Given the description of an element on the screen output the (x, y) to click on. 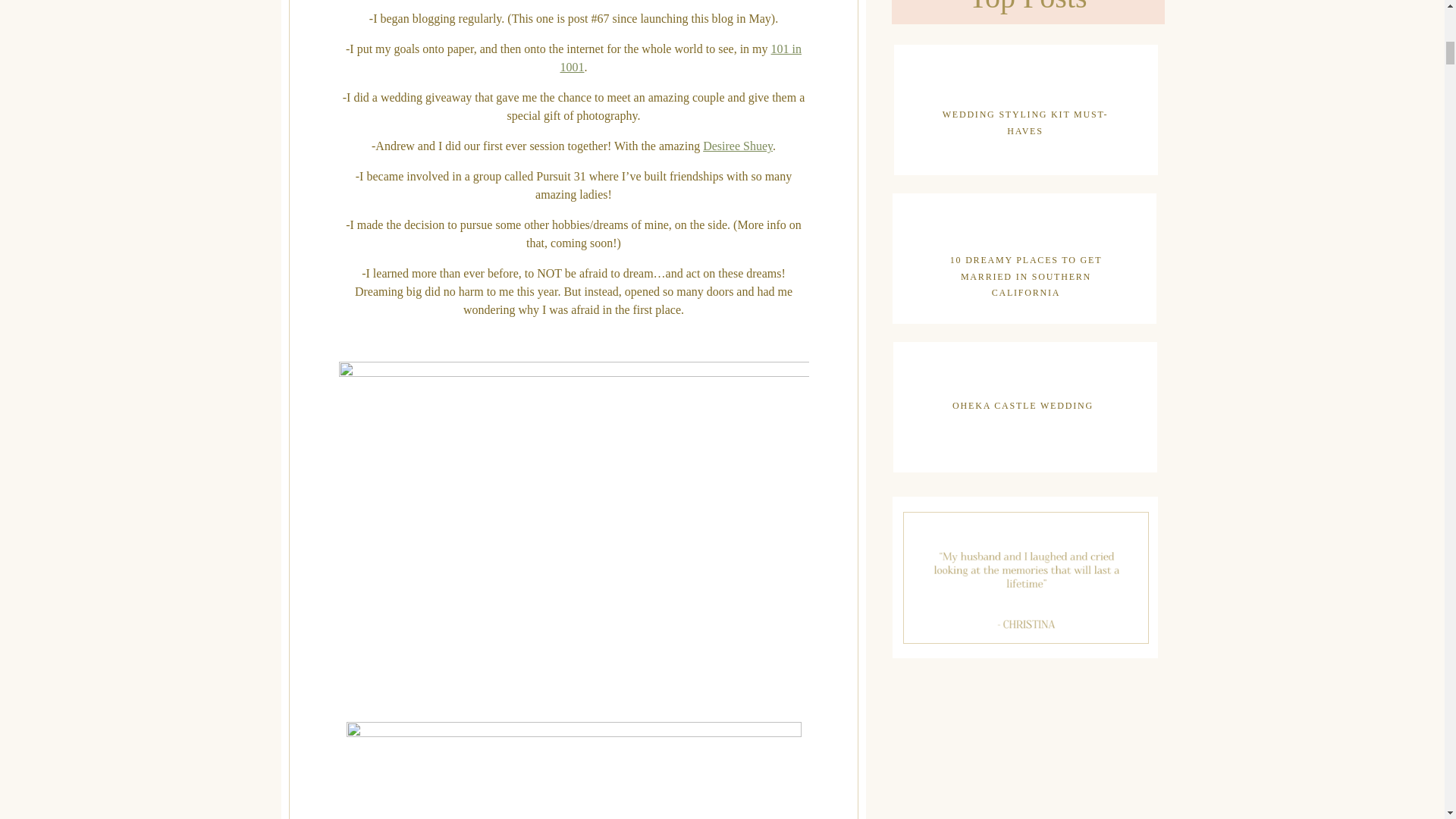
OHEKA CASTLE WEDDING (1021, 405)
10 DREAMY PLACES TO GET MARRIED IN SOUTHERN CALIFORNIA (1025, 266)
WEDDING STYLING KIT MUST-HAVES (1025, 113)
101 in 1001 (680, 57)
